Given the description of an element on the screen output the (x, y) to click on. 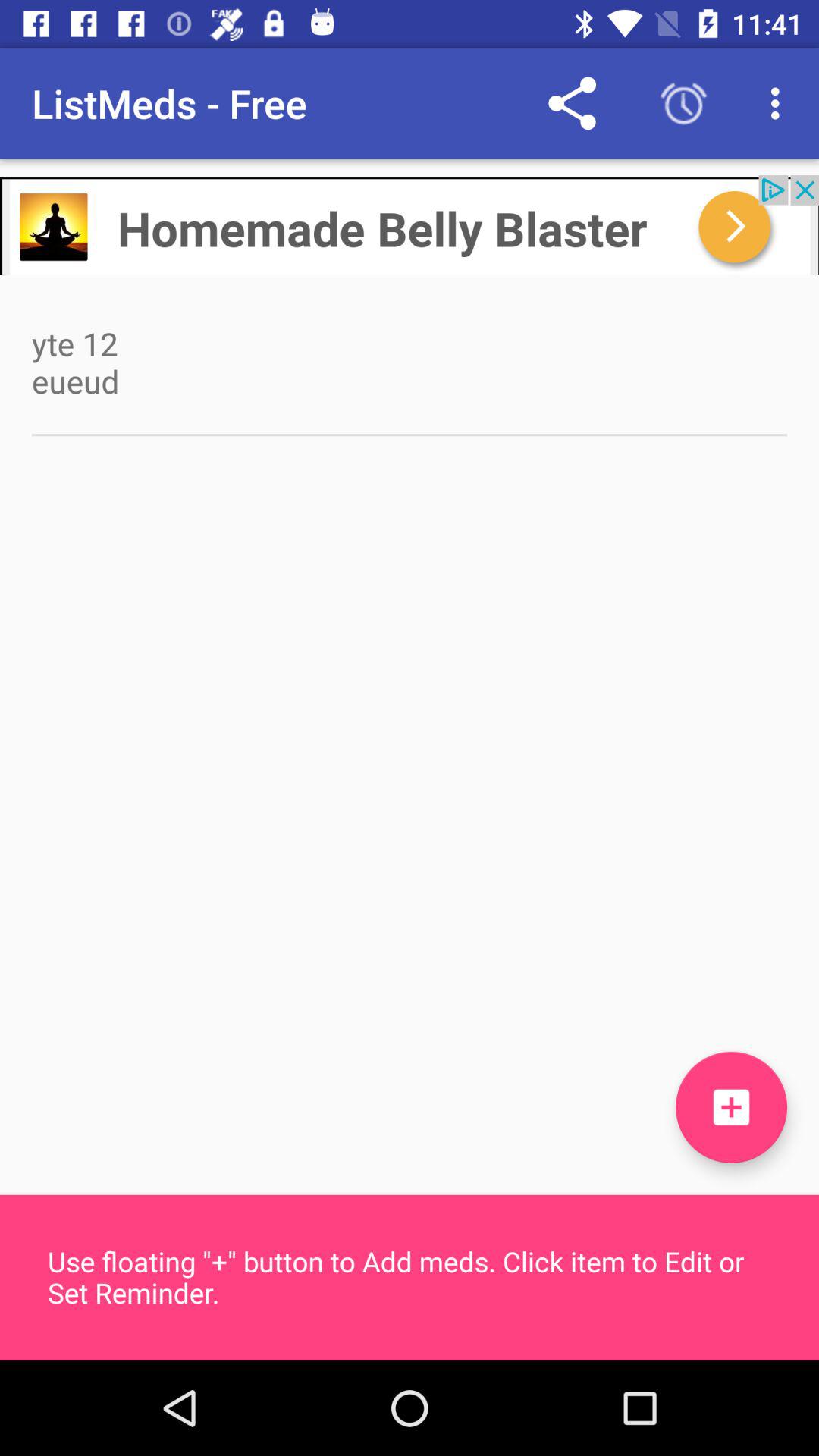
open advertisement (409, 224)
